Given the description of an element on the screen output the (x, y) to click on. 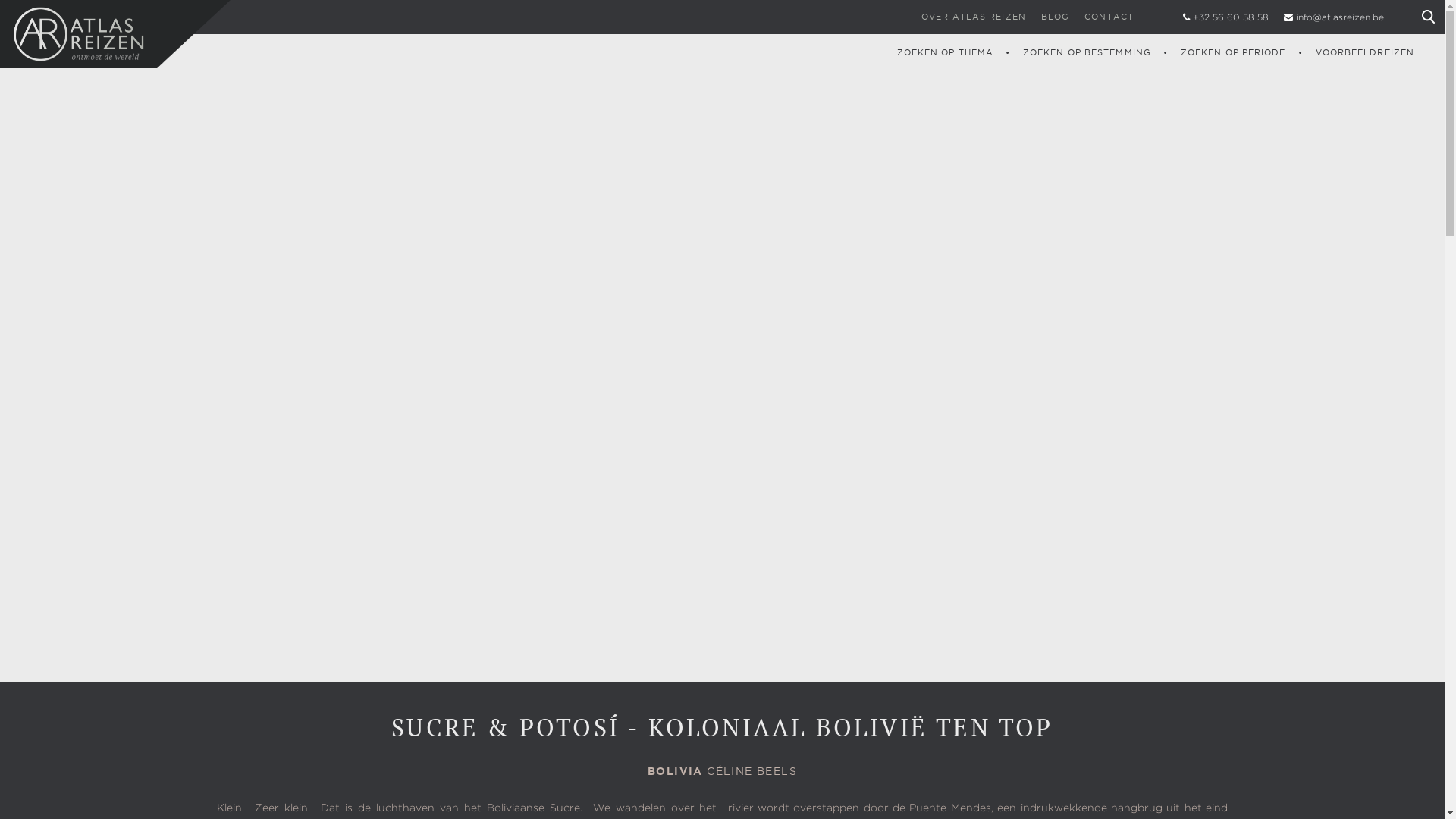
ZOEKEN OP THEMA Element type: text (945, 51)
ZOEKEN OP PERIODE Element type: text (1233, 51)
OVER ATLAS REIZEN Element type: text (973, 17)
VOORBEELDREIZEN Element type: text (1364, 51)
ZOEKEN OP BESTEMMING Element type: text (1086, 51)
info@atlasreizen.be Element type: text (1339, 17)
BLOG Element type: text (1054, 17)
CONTACT Element type: text (1108, 17)
